Given the description of an element on the screen output the (x, y) to click on. 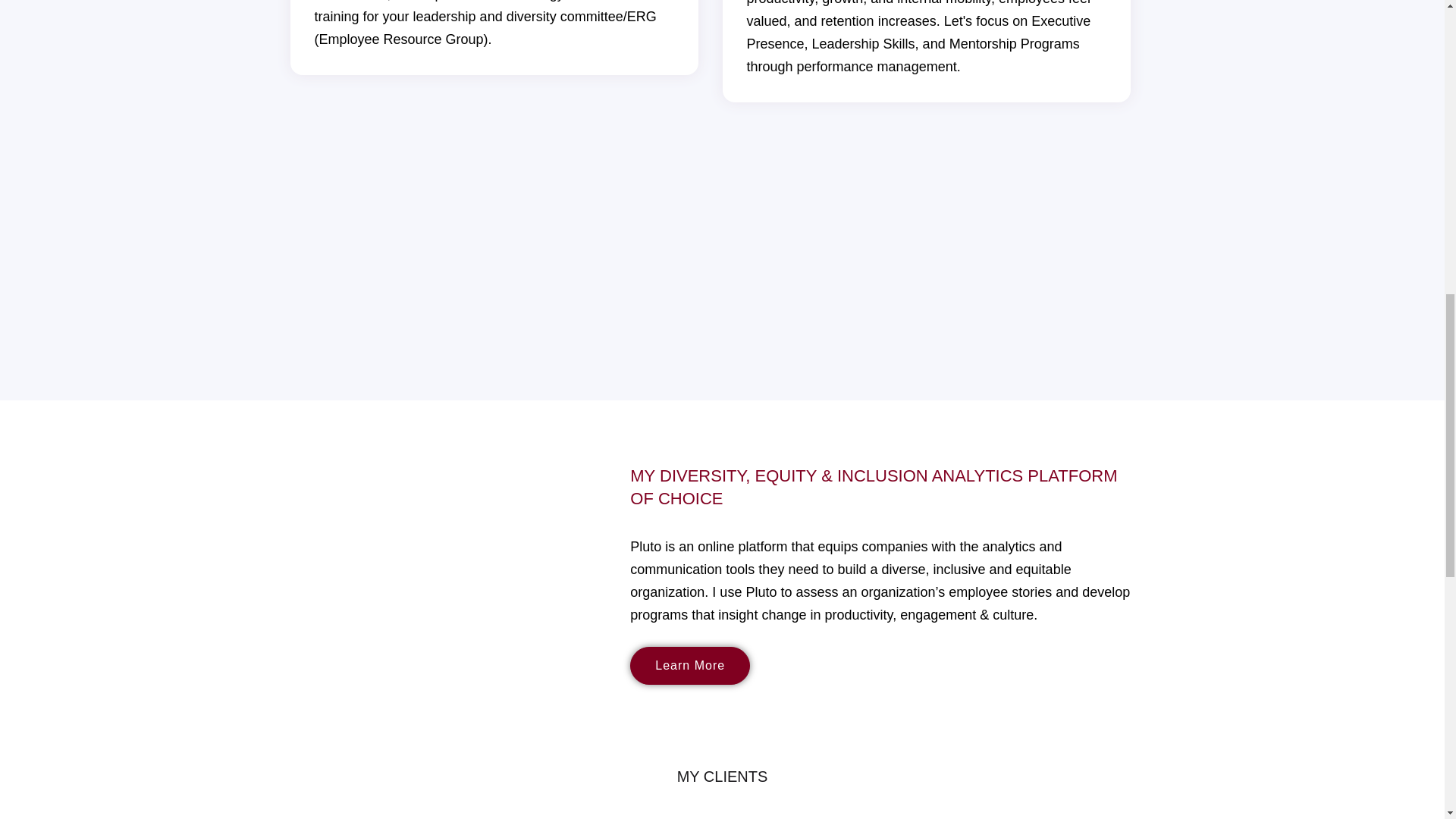
Learn More (689, 665)
